Given the description of an element on the screen output the (x, y) to click on. 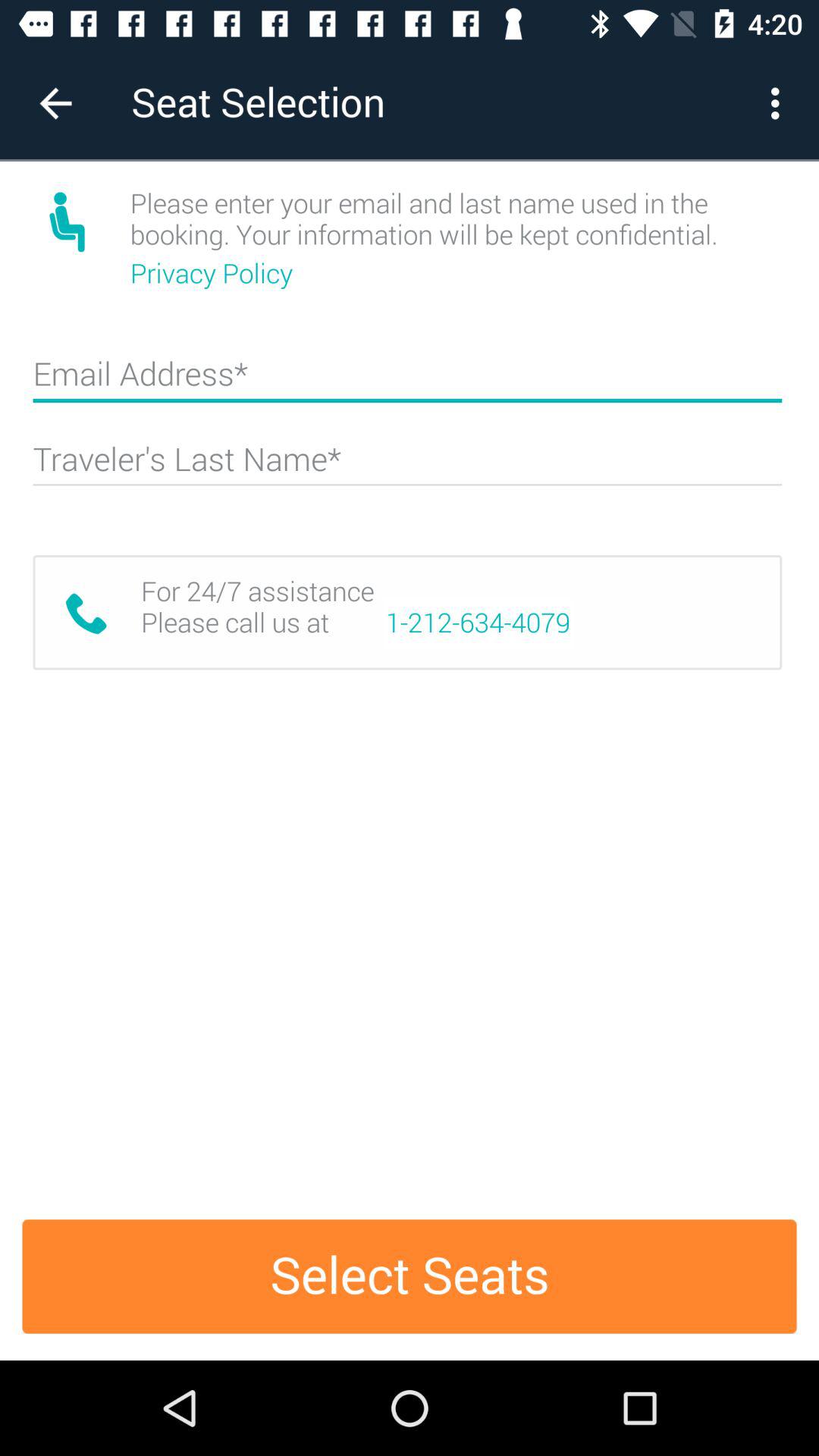
turn off the icon to the left of the seat selection (55, 103)
